Given the description of an element on the screen output the (x, y) to click on. 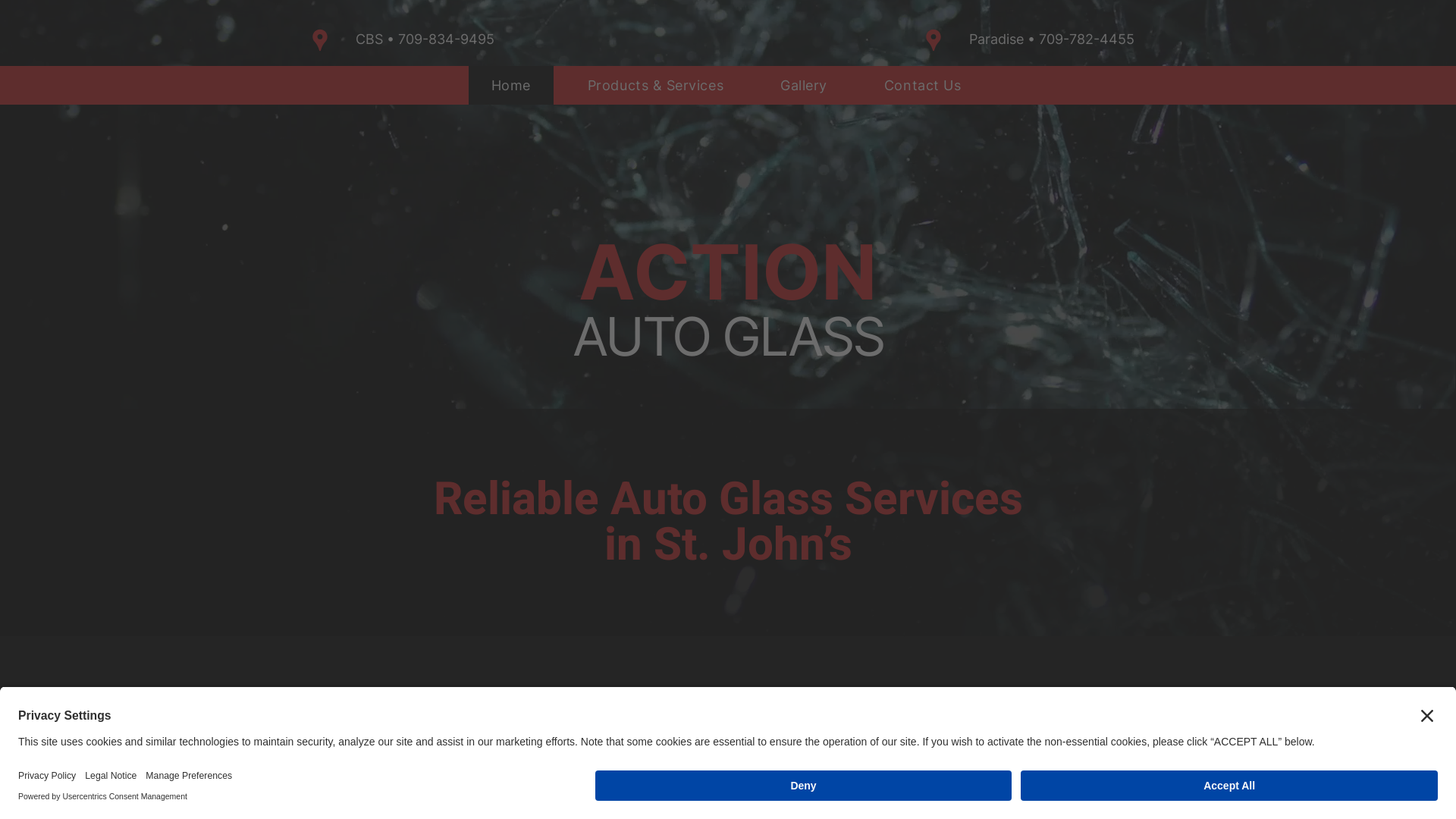
709-782-4455 Element type: text (1086, 39)
AUTO GLASS Element type: text (727, 336)
Products & Services Element type: text (655, 84)
709-834-9495 Element type: text (446, 39)
Contact Us Element type: text (922, 84)
Gallery Element type: text (803, 84)
ACTION Element type: text (727, 271)
Home Element type: text (510, 84)
